Given the description of an element on the screen output the (x, y) to click on. 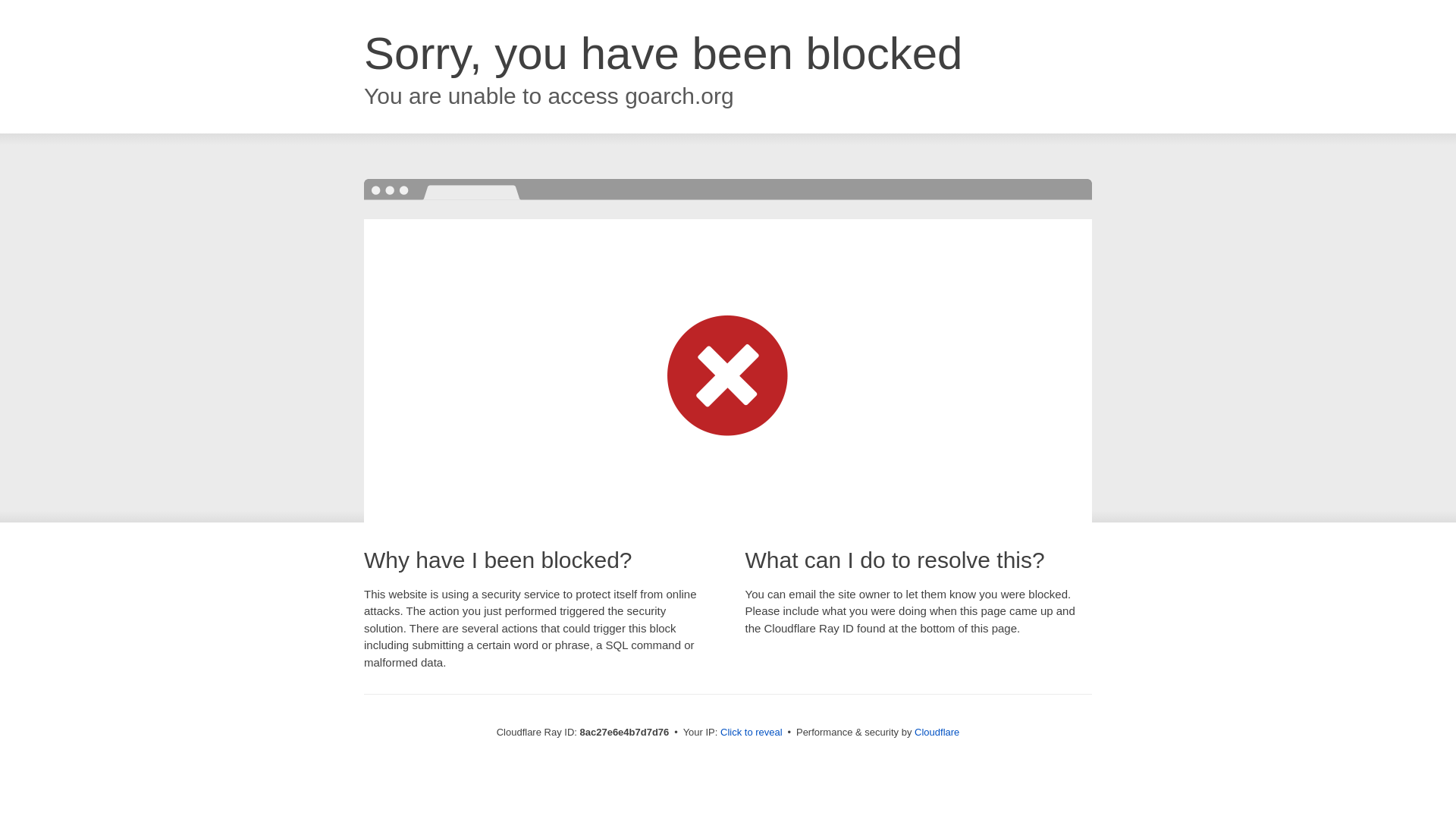
Click to reveal (751, 732)
Cloudflare (936, 731)
